Given the description of an element on the screen output the (x, y) to click on. 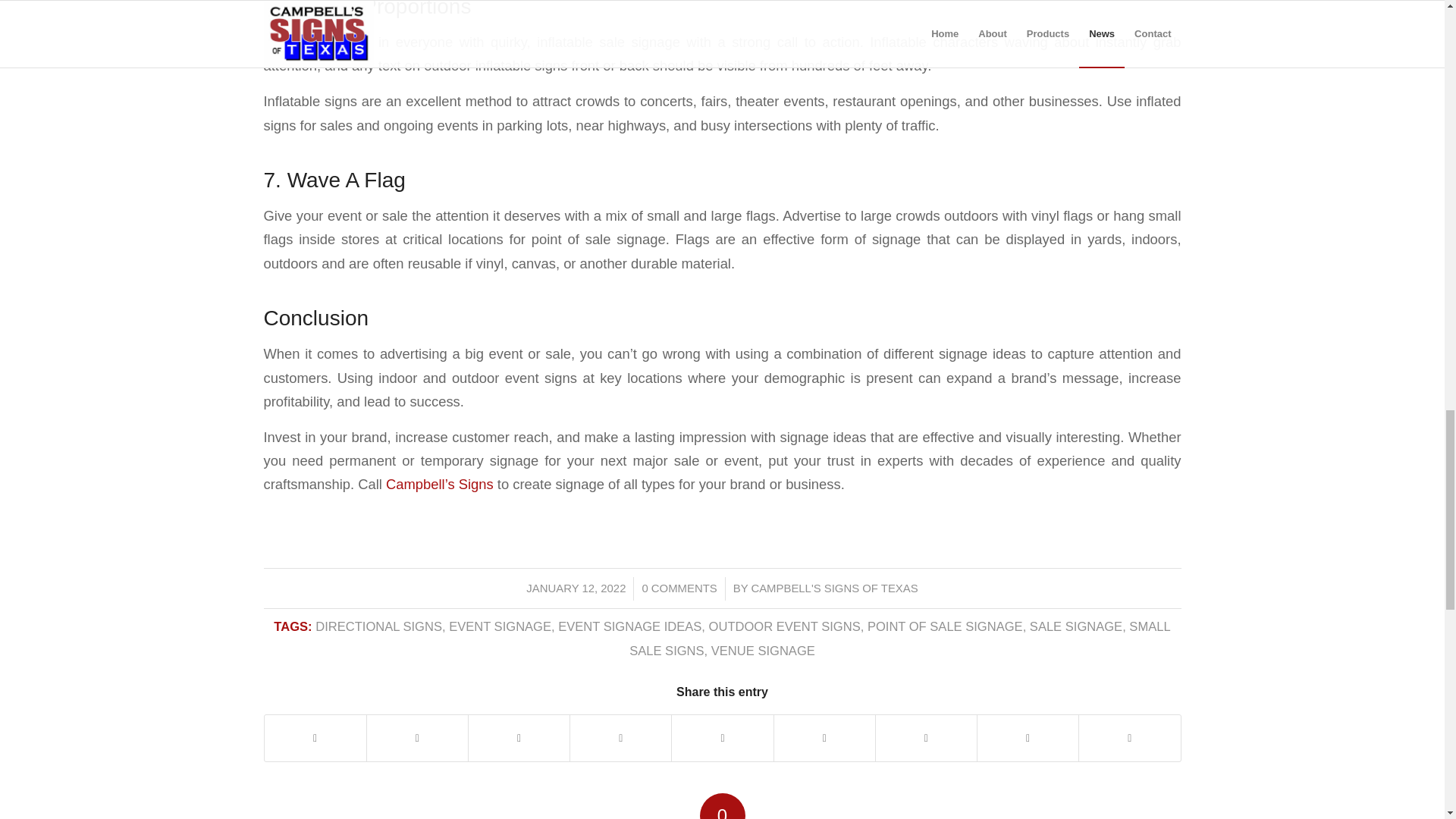
EVENT SIGNAGE IDEAS (629, 626)
POINT OF SALE SIGNAGE (945, 626)
OUTDOOR EVENT SIGNS (784, 626)
VENUE SIGNAGE (763, 650)
CAMPBELL'S SIGNS OF TEXAS (834, 588)
SALE SIGNAGE (1075, 626)
DIRECTIONAL SIGNS (378, 626)
0 COMMENTS (679, 588)
Posts by Campbell's Signs of Texas (834, 588)
EVENT SIGNAGE (499, 626)
